Given the description of an element on the screen output the (x, y) to click on. 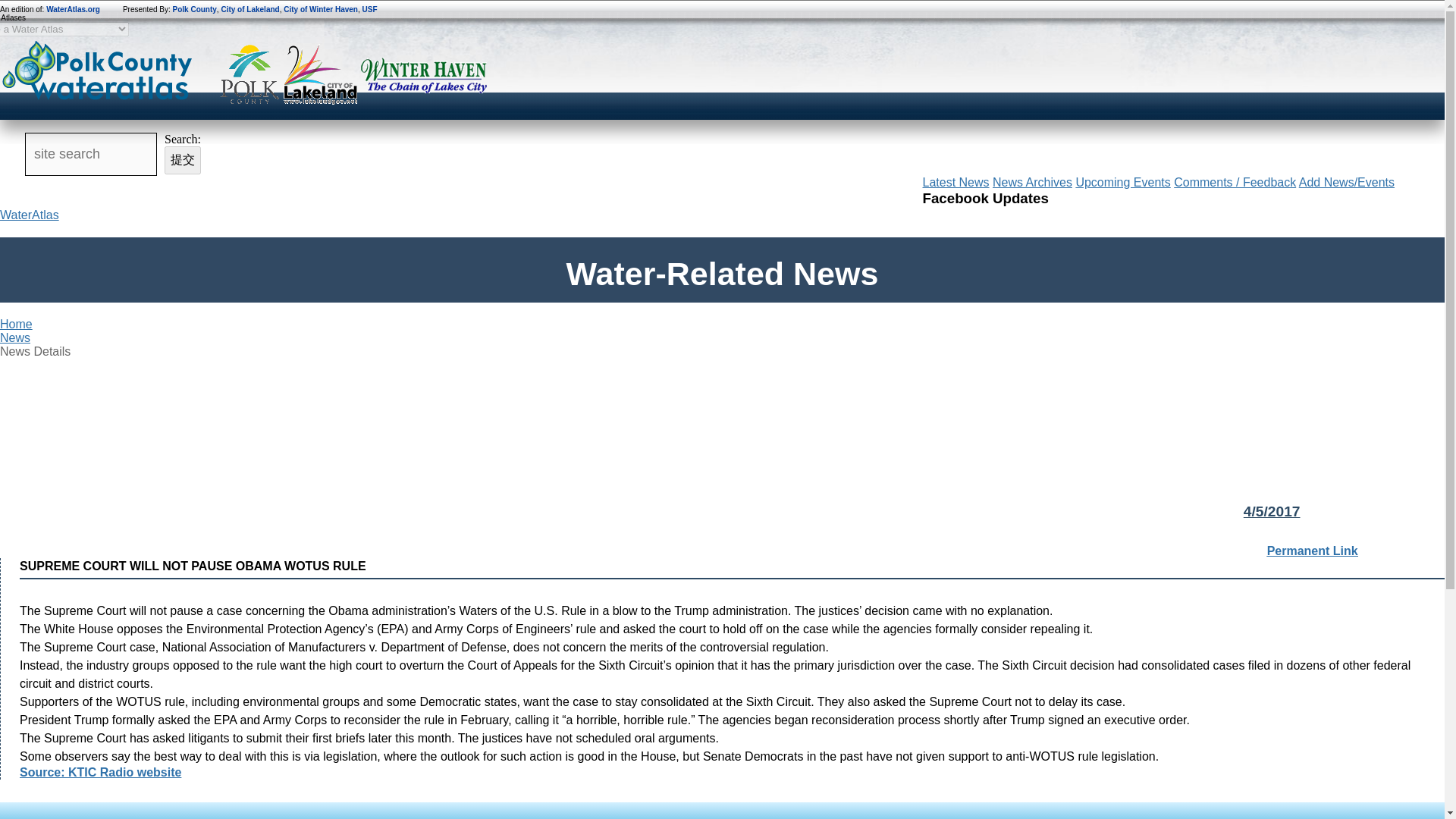
LEARN (717, 185)
WaterAtlas.org (73, 8)
Polk County (250, 75)
City of Winter Haven (424, 75)
USF (369, 8)
DISCOVER (444, 185)
City of Lakeland (250, 8)
City of Lakeland (319, 75)
City of Winter Haven (320, 8)
PARTICIPATE (854, 185)
Polk County (194, 8)
